Given the description of an element on the screen output the (x, y) to click on. 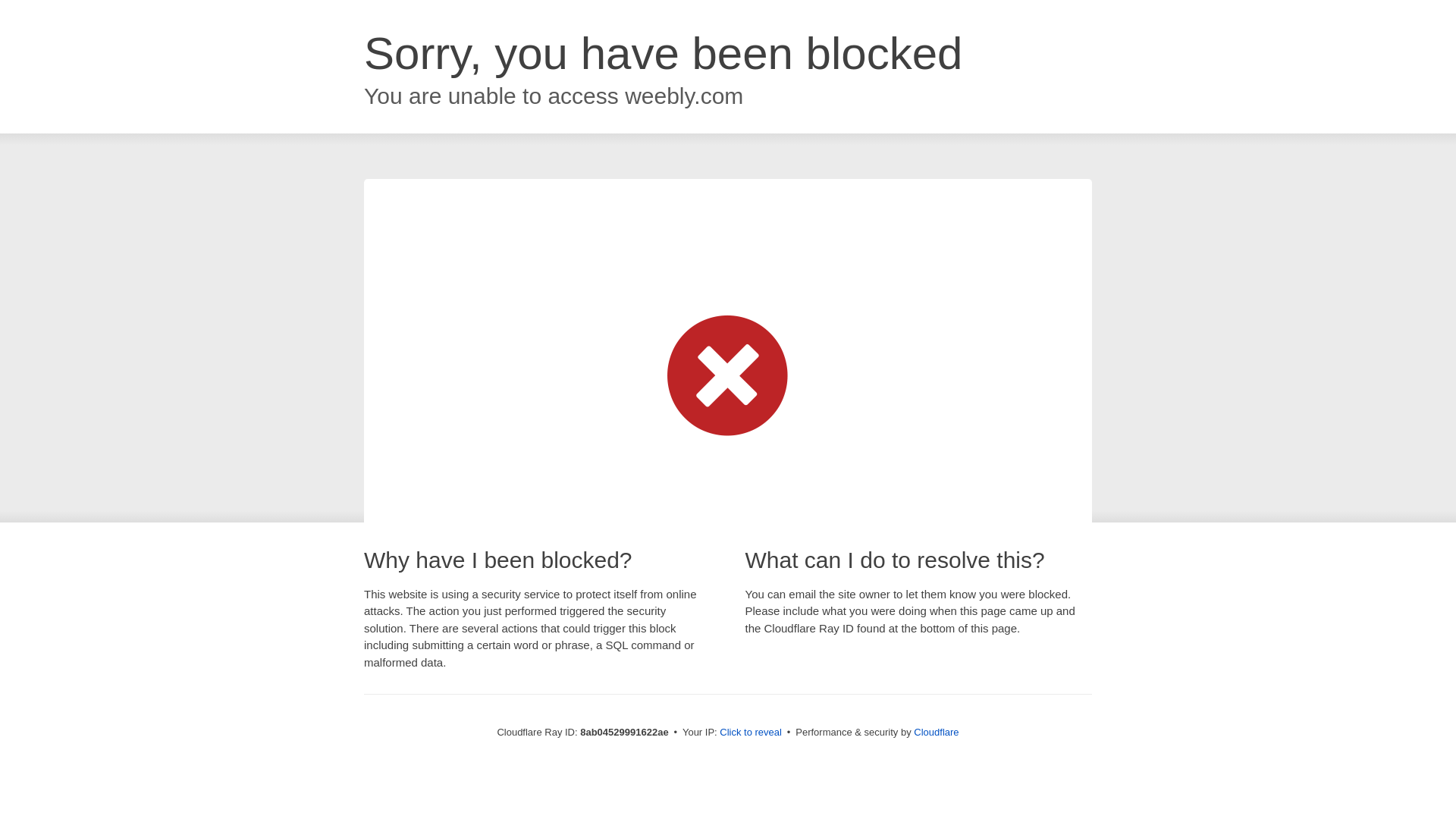
Click to reveal (750, 732)
Cloudflare (936, 731)
